Given the description of an element on the screen output the (x, y) to click on. 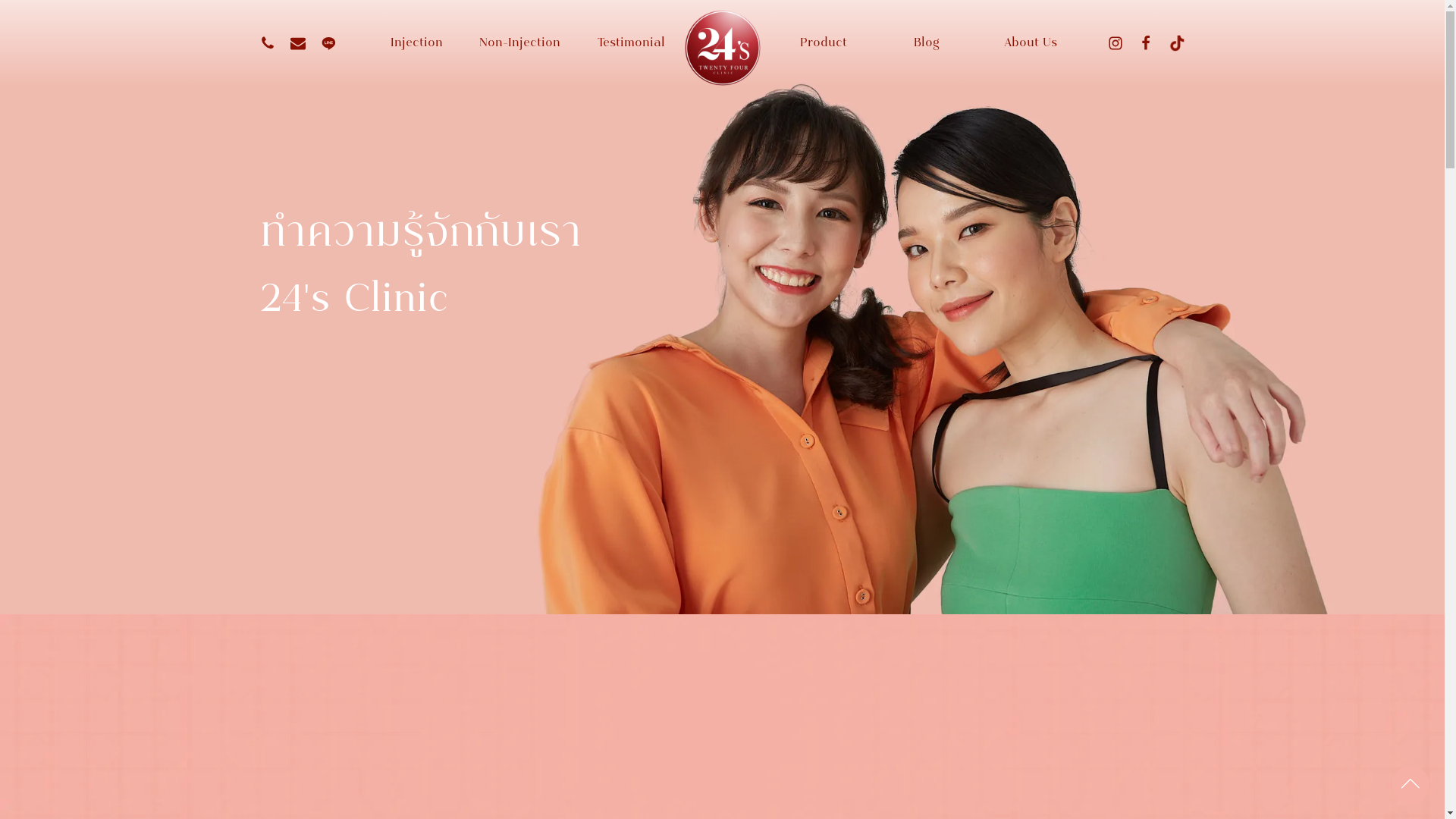
Product Element type: text (823, 42)
Injection Element type: text (415, 42)
Testimonial Element type: text (623, 42)
Non-Injection Element type: text (519, 42)
